Given the description of an element on the screen output the (x, y) to click on. 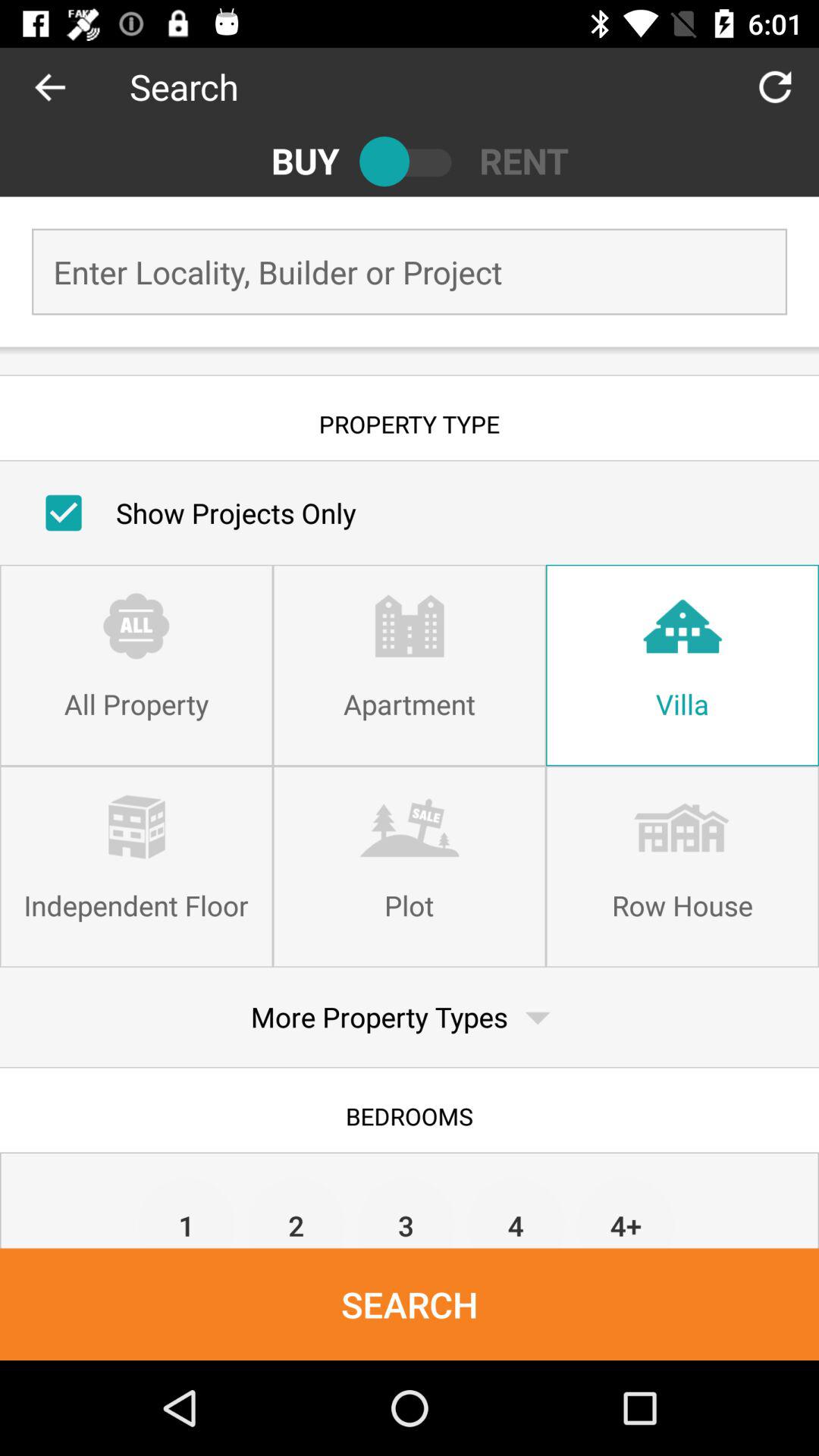
turn off the icon next to the 4 item (406, 1212)
